Given the description of an element on the screen output the (x, y) to click on. 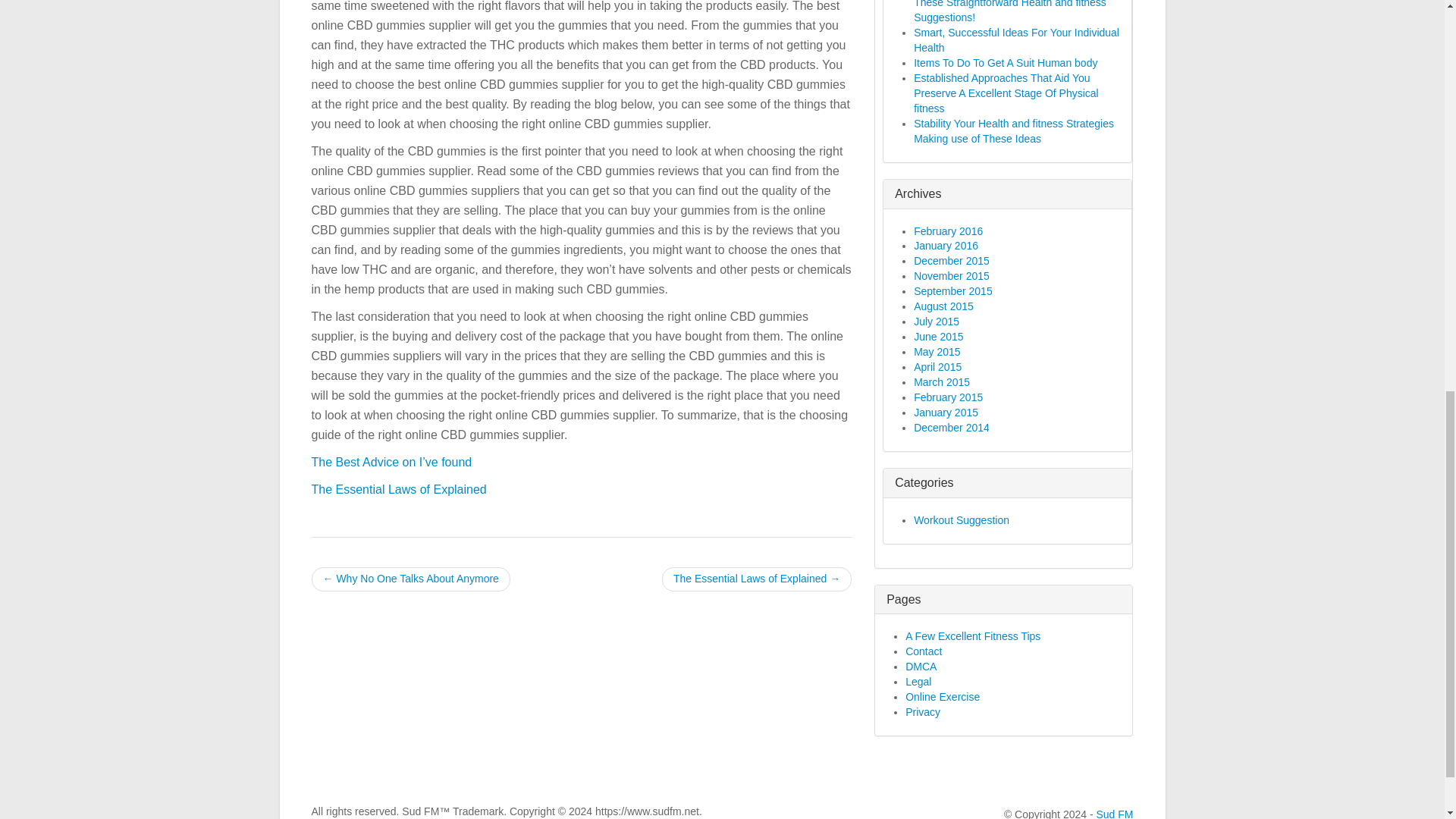
April 2015 (937, 367)
January 2015 (946, 412)
June 2015 (938, 336)
Contact (923, 651)
Items To Do To Get A Suit Human body (1005, 62)
December 2015 (952, 260)
September 2015 (953, 291)
March 2015 (941, 381)
February 2015 (948, 397)
November 2015 (952, 275)
